Given the description of an element on the screen output the (x, y) to click on. 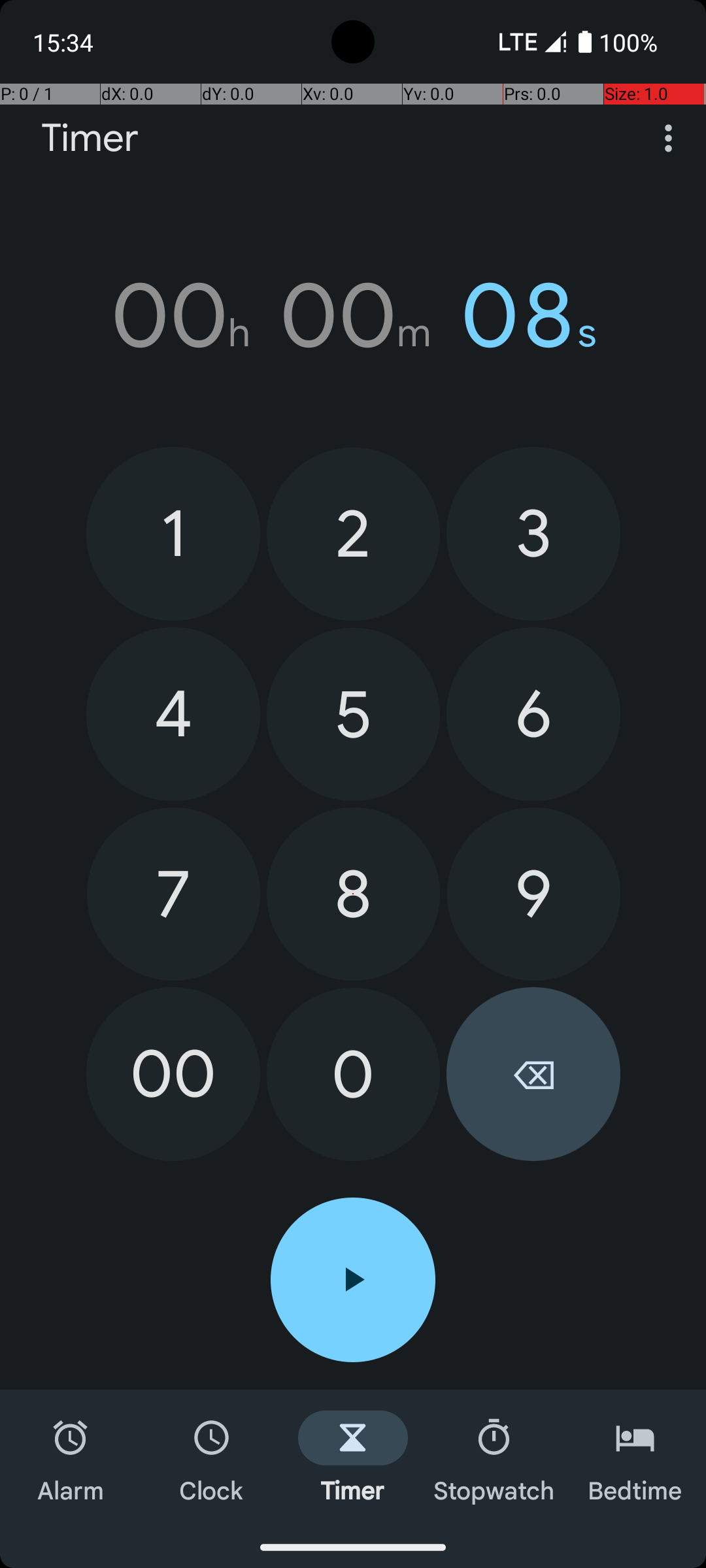
00h 00m 08s Element type: android.widget.TextView (353, 315)
